Given the description of an element on the screen output the (x, y) to click on. 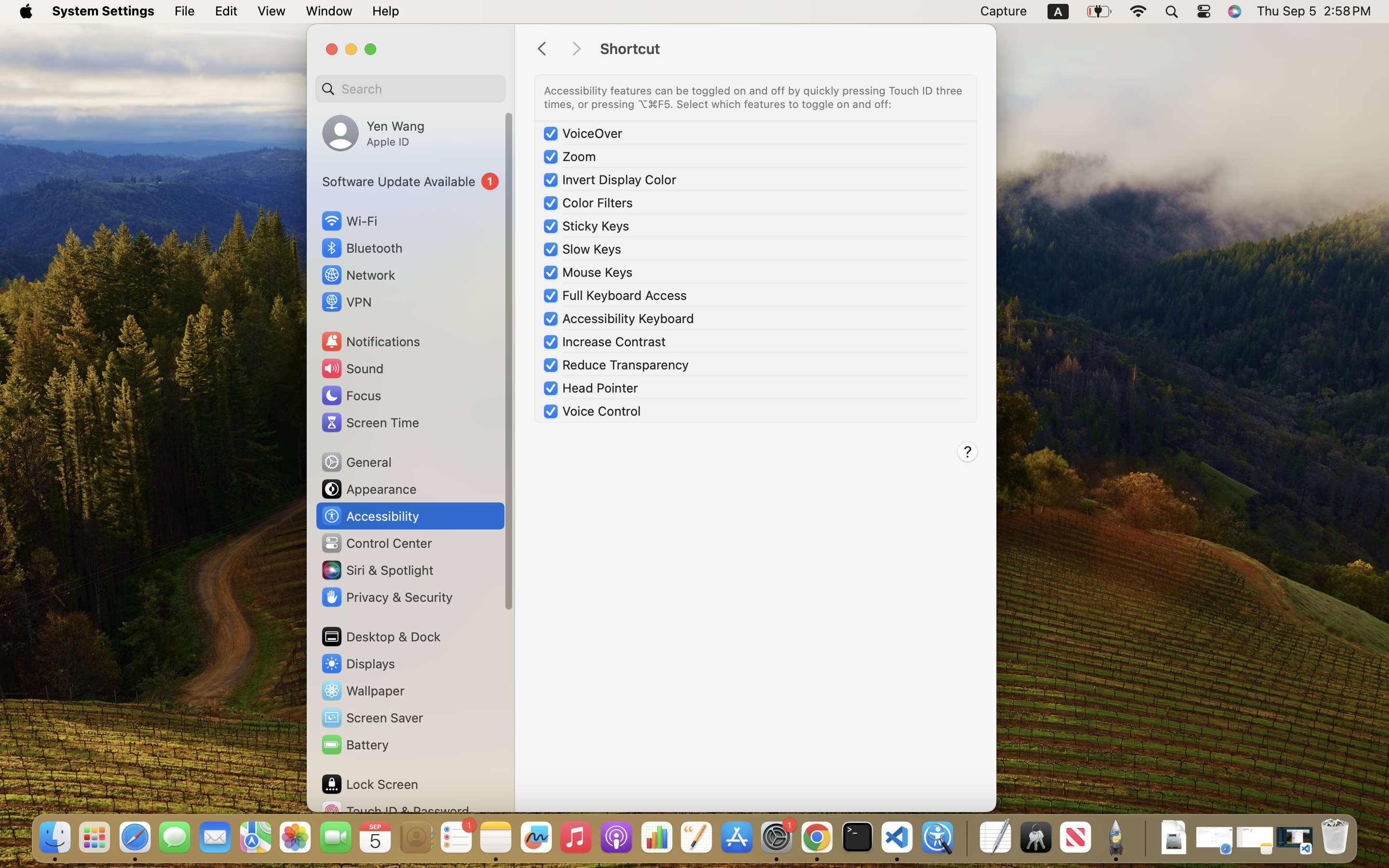
0.4285714328289032 Element type: AXDockItem (965, 837)
Yen Wang, Apple ID Element type: AXStaticText (373, 132)
